Given the description of an element on the screen output the (x, y) to click on. 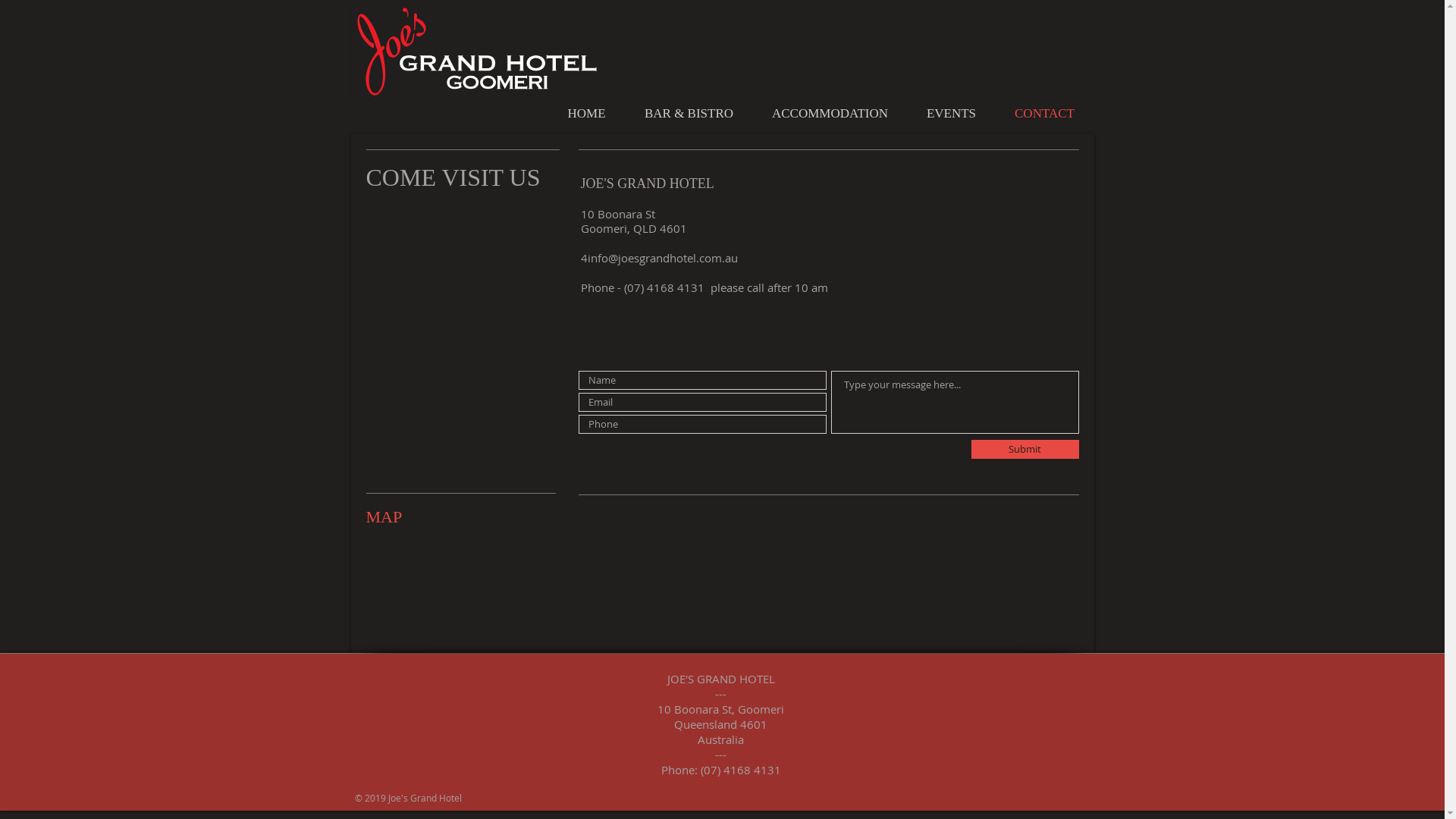
BAR & BISTRO Element type: text (688, 113)
HOME Element type: text (585, 113)
EVENTS Element type: text (950, 113)
CONTACT Element type: text (1043, 113)
4info@joesgrandhotel.com.au Element type: text (658, 257)
Submit Element type: text (1024, 448)
ACCOMMODATION Element type: text (829, 113)
